Given the description of an element on the screen output the (x, y) to click on. 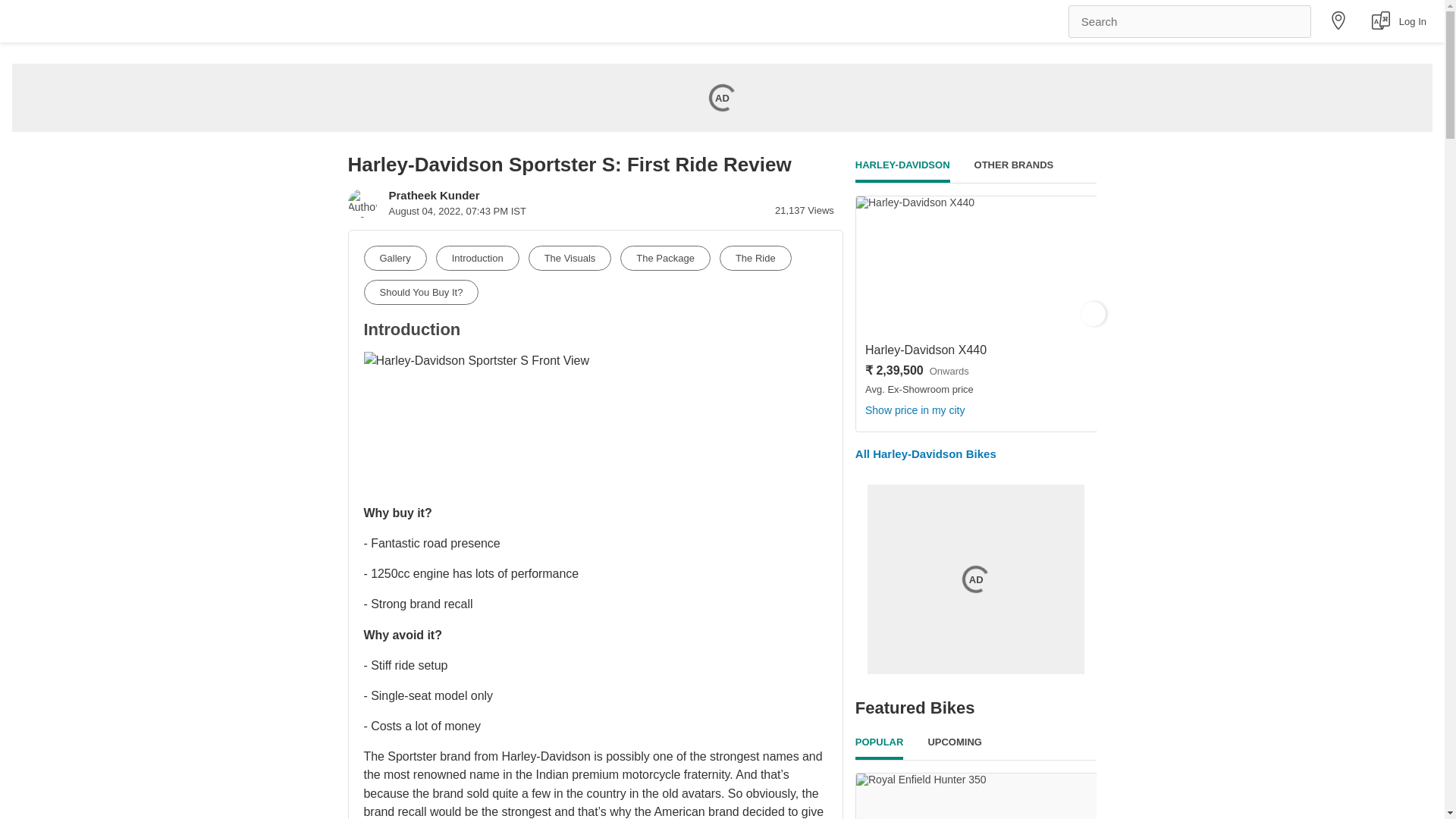
The Ride (755, 258)
The Visuals (569, 258)
Should You Buy It? (421, 292)
Pratheek Kunder (433, 195)
Search (1189, 20)
Log In (1412, 20)
Gallery (395, 258)
The Package (665, 258)
BikeWale (88, 20)
Authors Image (361, 203)
Harley-Davidson Sportster S Front View (476, 422)
Introduction (477, 258)
